Given the description of an element on the screen output the (x, y) to click on. 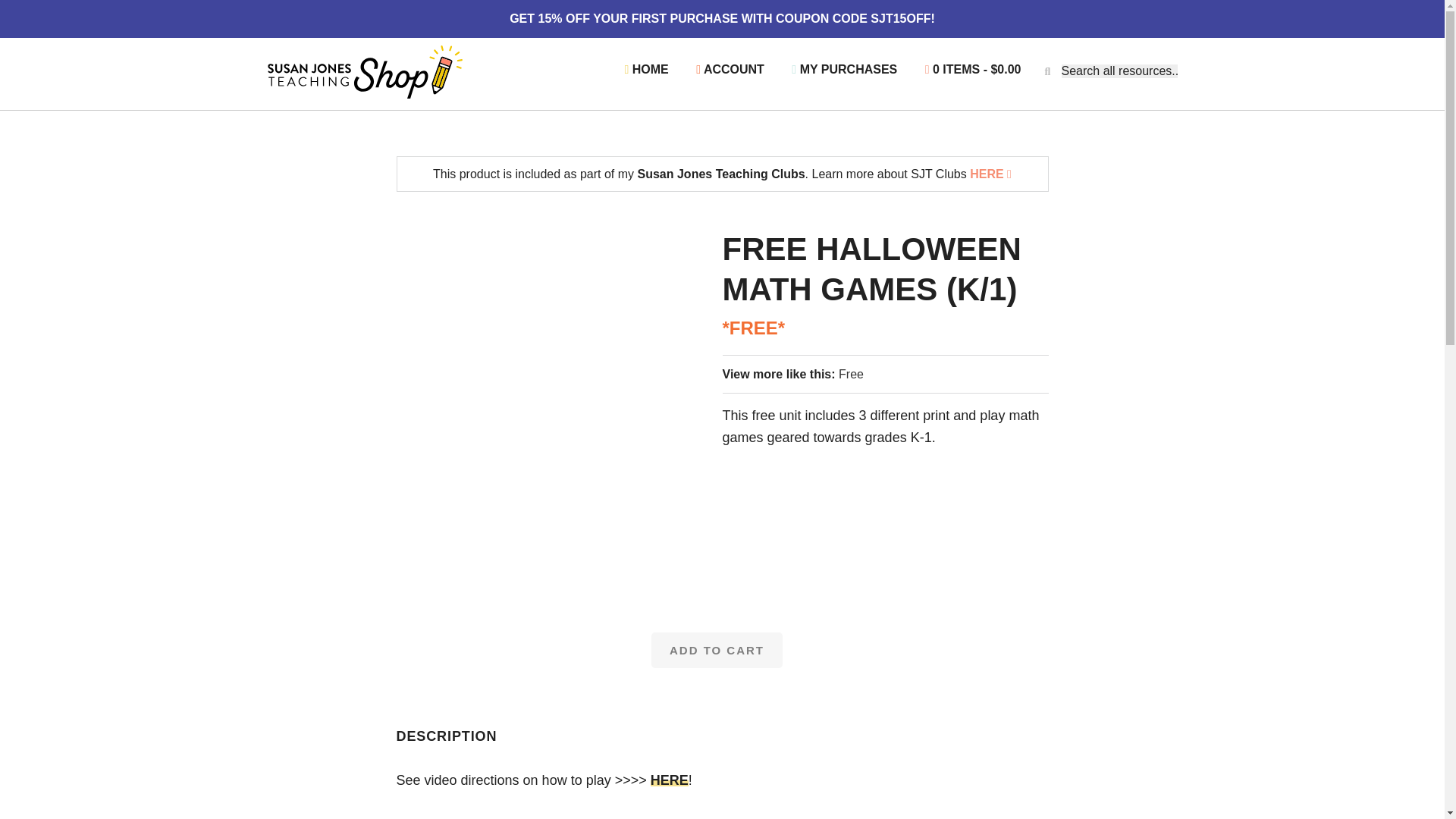
ACCOUNT (729, 69)
MY PURCHASES (844, 69)
ADD TO CART (716, 650)
HERE (990, 173)
HOME (646, 69)
Start shopping (973, 69)
Susan Jones Teaching (363, 71)
HERE (669, 780)
DESCRIPTION (446, 736)
Free (850, 373)
